Given the description of an element on the screen output the (x, y) to click on. 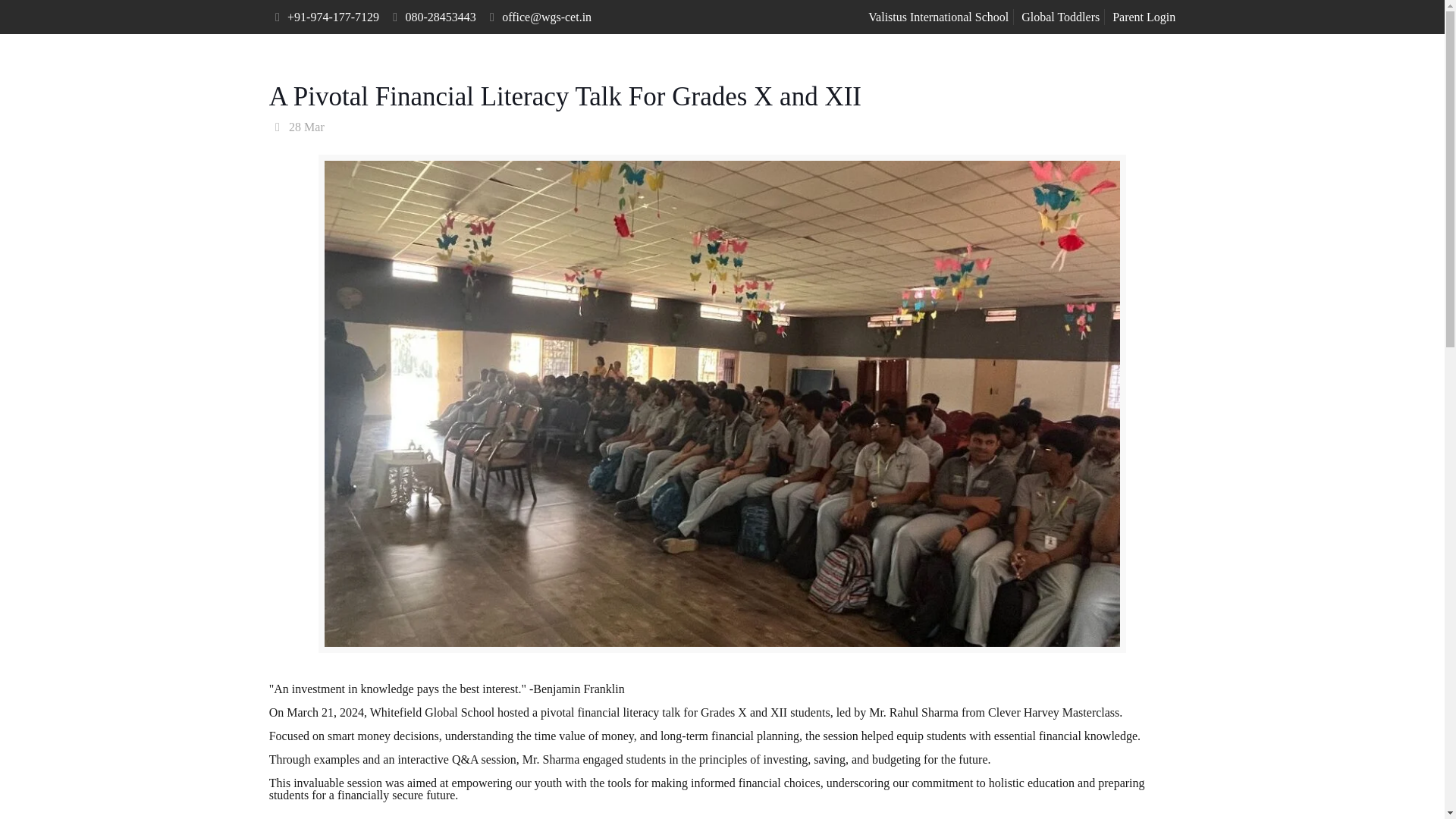
Parent Login (1143, 16)
Global Toddlers (1060, 16)
Valistus International School (938, 16)
080-28453443 (440, 16)
